Given the description of an element on the screen output the (x, y) to click on. 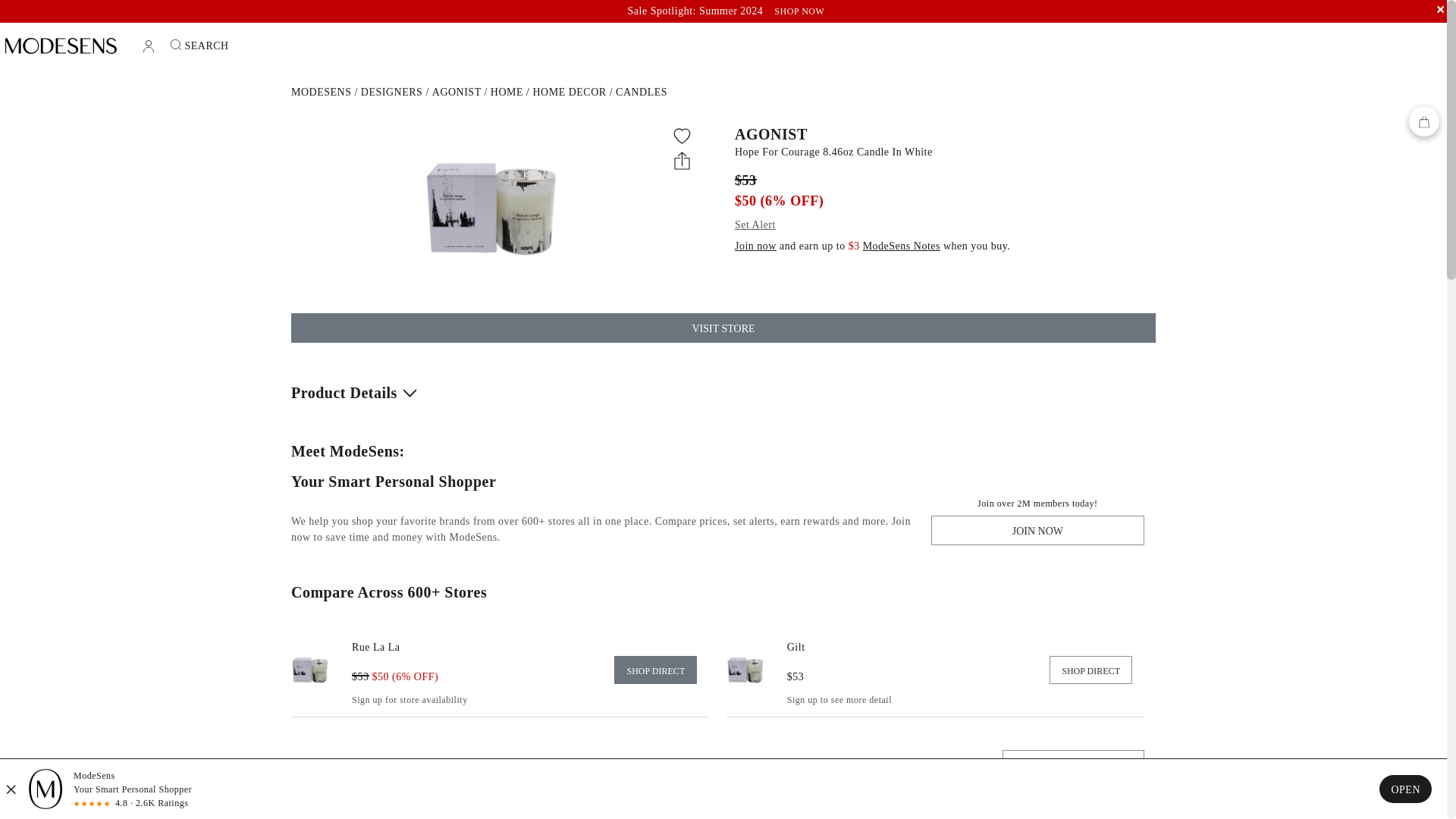
Agonist Home Decor (568, 91)
OPEN (1404, 788)
Learn more about ModeSens membership (901, 245)
Add to shopping lists (681, 135)
Buy from store's website (376, 646)
Buy from store's website (796, 646)
Agonist Candles (640, 91)
Share with Friends (681, 159)
Buy from store's website (655, 669)
ModeSens (320, 91)
Agonist (456, 91)
Buy from store's website (1090, 669)
Agonist Home (506, 91)
AGONIST (939, 133)
Hope For Courage 8.46oz Candle In White (939, 151)
